Given the description of an element on the screen output the (x, y) to click on. 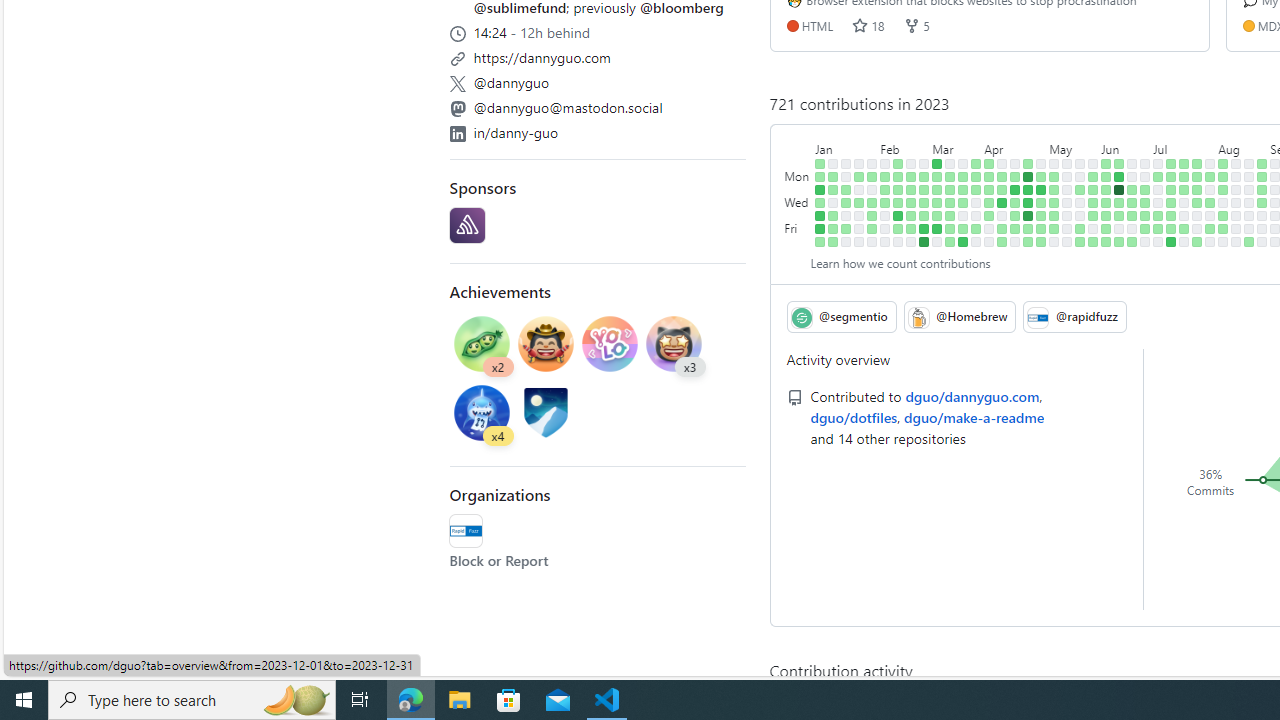
1 contribution on March 9th. (937, 215)
dguo/make-a-readme (973, 416)
4 contributions on February 14th. (898, 189)
dguo/dotfiles (854, 416)
Achievement: YOLO (609, 343)
2 contributions on April 2nd. (989, 163)
@getsentry (467, 225)
Learn how we count contributions (900, 262)
8 contributions on July 23rd. (1197, 163)
2 contributions on February 23rd. (911, 215)
No contributions on June 18th. (1131, 163)
No contributions on August 31st. (1262, 215)
2 contributions on July 17th. (1184, 176)
1 contribution on June 9th. (1106, 228)
10 contributions on March 3rd. (924, 228)
